Given the description of an element on the screen output the (x, y) to click on. 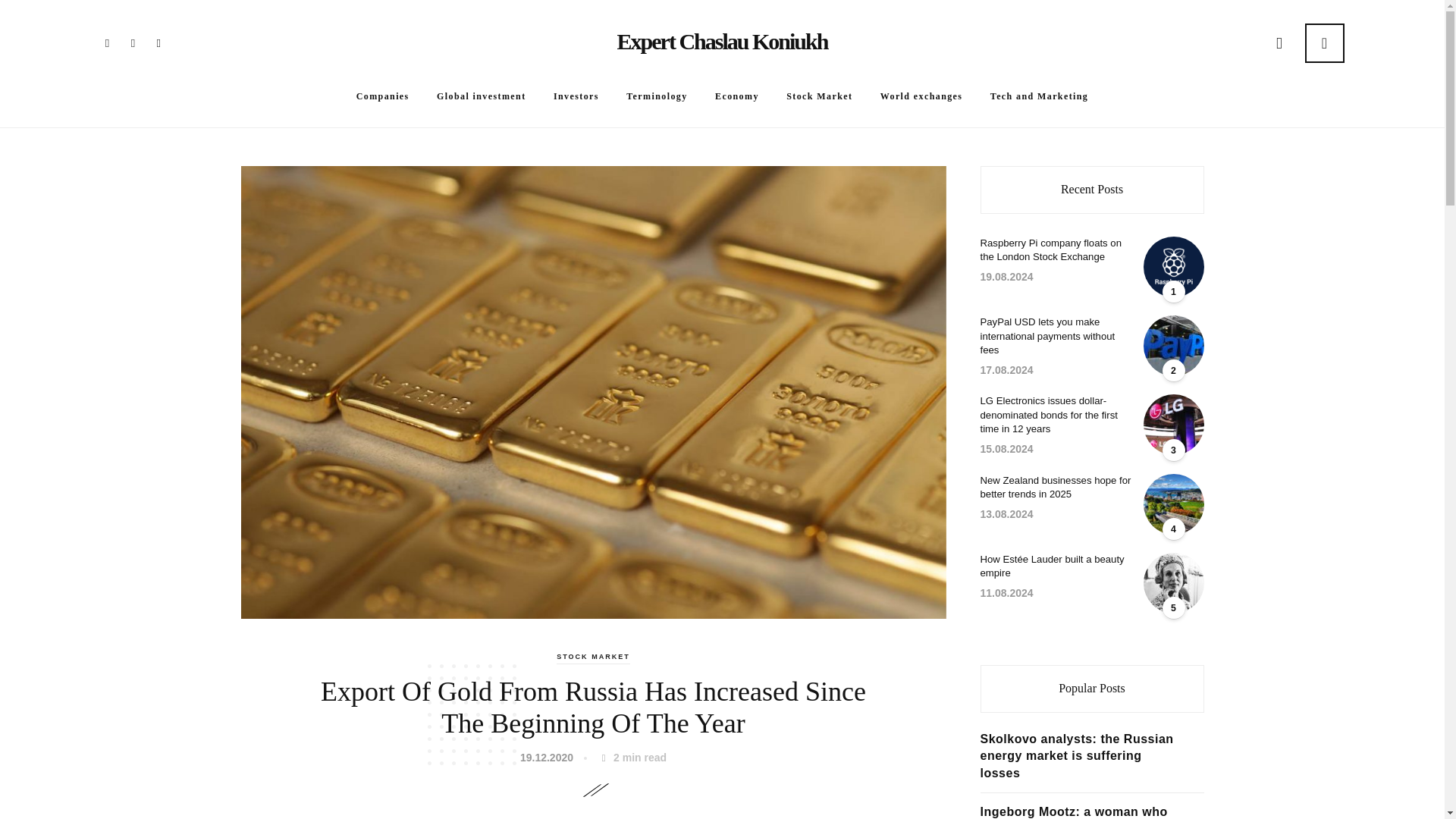
Companies (382, 95)
19.12.2020 (549, 757)
Economy (736, 95)
Terminology (656, 95)
Stock Market (818, 95)
Tech and Marketing (1038, 95)
World exchanges (921, 95)
STOCK MARKET (593, 656)
Investors (575, 95)
Expert Chaslau Koniukh (722, 41)
